Given the description of an element on the screen output the (x, y) to click on. 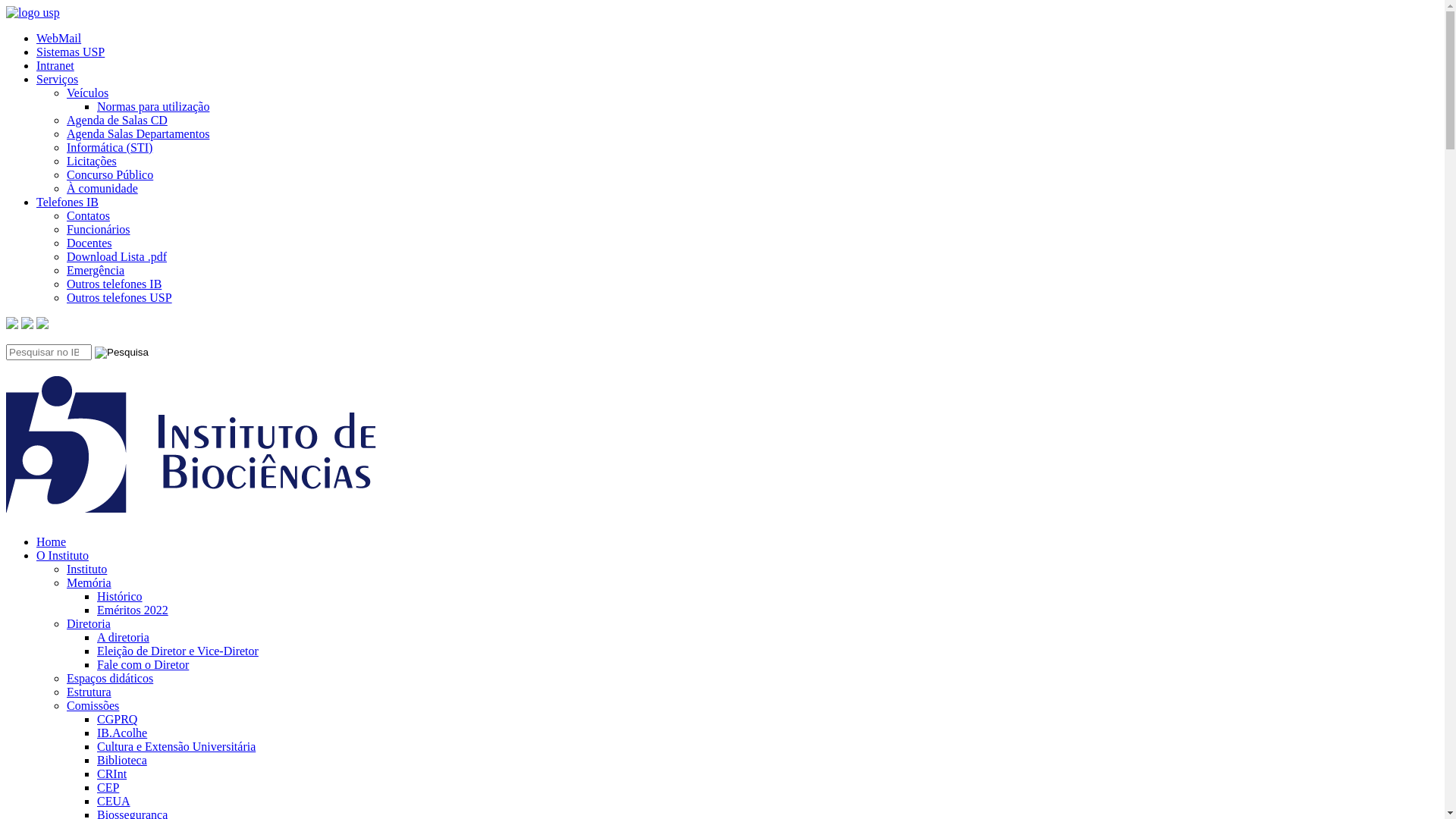
Agenda Salas Departamentos Element type: text (137, 133)
Canal YouTube Element type: hover (27, 324)
WebMail Element type: text (58, 37)
Telefones IB Element type: text (67, 201)
A diretoria Element type: text (123, 636)
CEP Element type: text (108, 787)
Outros telefones IB Element type: text (113, 283)
CRInt Element type: text (111, 773)
Biblioteca Element type: text (122, 759)
Download Lista .pdf Element type: text (116, 256)
CEUA Element type: text (113, 800)
Agenda de Salas CD Element type: text (116, 119)
Contatos Element type: text (87, 215)
Instituto Element type: text (86, 568)
IB.Acolhe Element type: text (122, 732)
O Instituto Element type: text (62, 555)
CGPRQ Element type: text (117, 718)
Diretoria Element type: text (88, 623)
Intranet Element type: text (55, 65)
Estrutura Element type: text (88, 691)
Docentes Element type: text (89, 242)
Home Element type: text (50, 541)
Outros telefones USP Element type: text (119, 297)
Fale com o Diretor Element type: text (142, 664)
Sistemas USP Element type: text (70, 51)
